Given the description of an element on the screen output the (x, y) to click on. 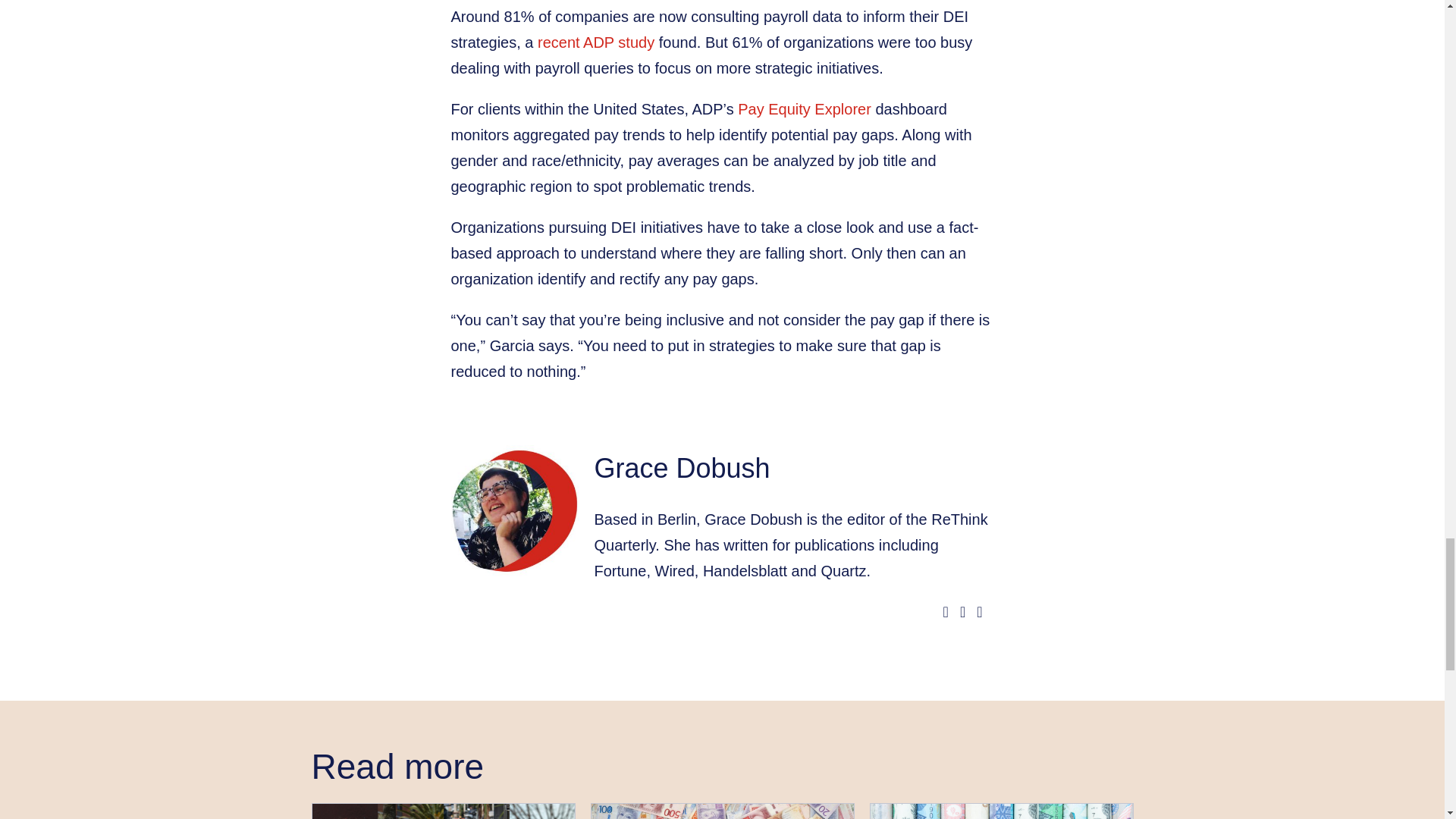
Pay Equity Explorer (804, 108)
recent ADP study (595, 42)
Grace Dobush (682, 468)
